Given the description of an element on the screen output the (x, y) to click on. 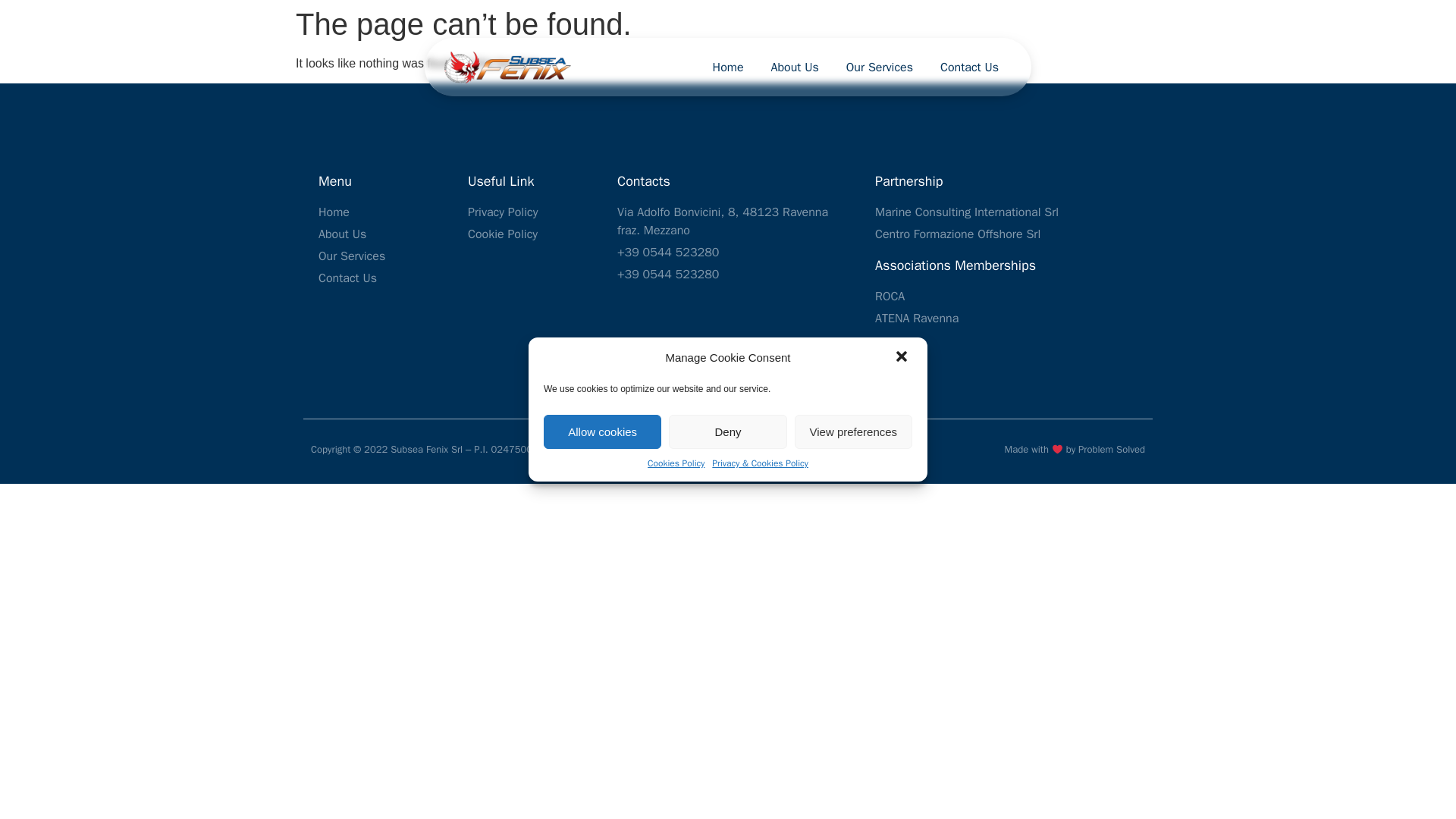
About Us (381, 234)
Centro Formazione Offshore Srl (986, 234)
Cookie Policy (530, 234)
Cookies Policy (675, 463)
Home (381, 212)
Via Adolfo Bonvicini, 8, 48123 Ravenna fraz. Mezzano (734, 221)
Our Services (381, 256)
Contact Us (381, 278)
ROCA (986, 296)
ATENA Ravenna (986, 318)
Contact Us (968, 67)
About Us (794, 67)
Our Services (879, 67)
Privacy Policy (530, 212)
Home (727, 67)
